Given the description of an element on the screen output the (x, y) to click on. 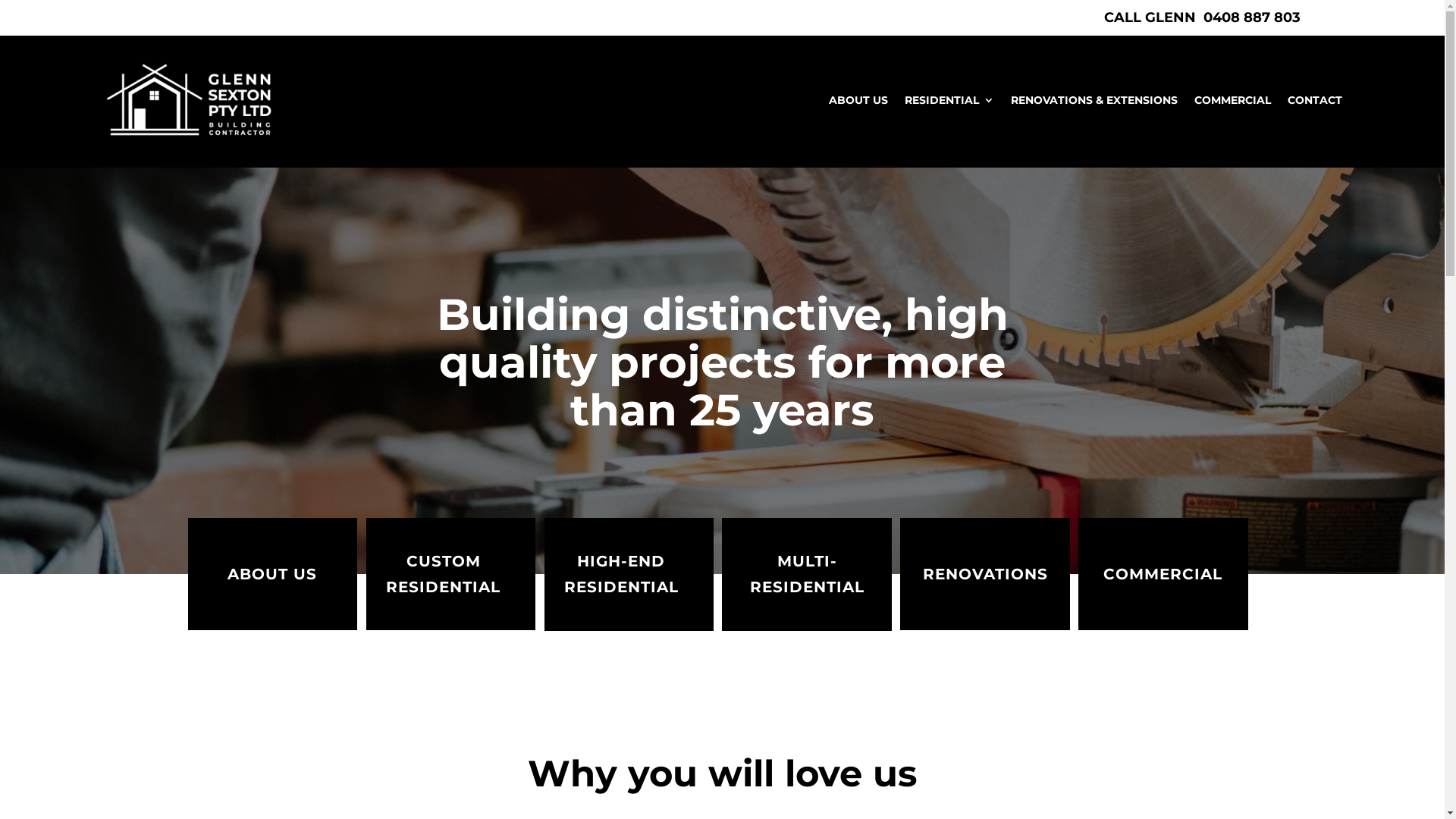
CONTACT Element type: text (1314, 99)
RESIDENTIAL Element type: text (949, 99)
RENOVATIONS & EXTENSIONS Element type: text (1093, 99)
ABOUT US Element type: text (858, 99)
ABOUT US Element type: text (272, 573)
RENOVATIONS Element type: text (984, 573)
HIGH-END RESIDENTIAL Element type: text (628, 573)
MULTI- RESIDENTIAL Element type: text (806, 573)
COMMERCIAL Element type: text (1162, 573)
COMMERCIAL Element type: text (1232, 99)
CUSTOM RESIDENTIAL Element type: text (450, 573)
